Given the description of an element on the screen output the (x, y) to click on. 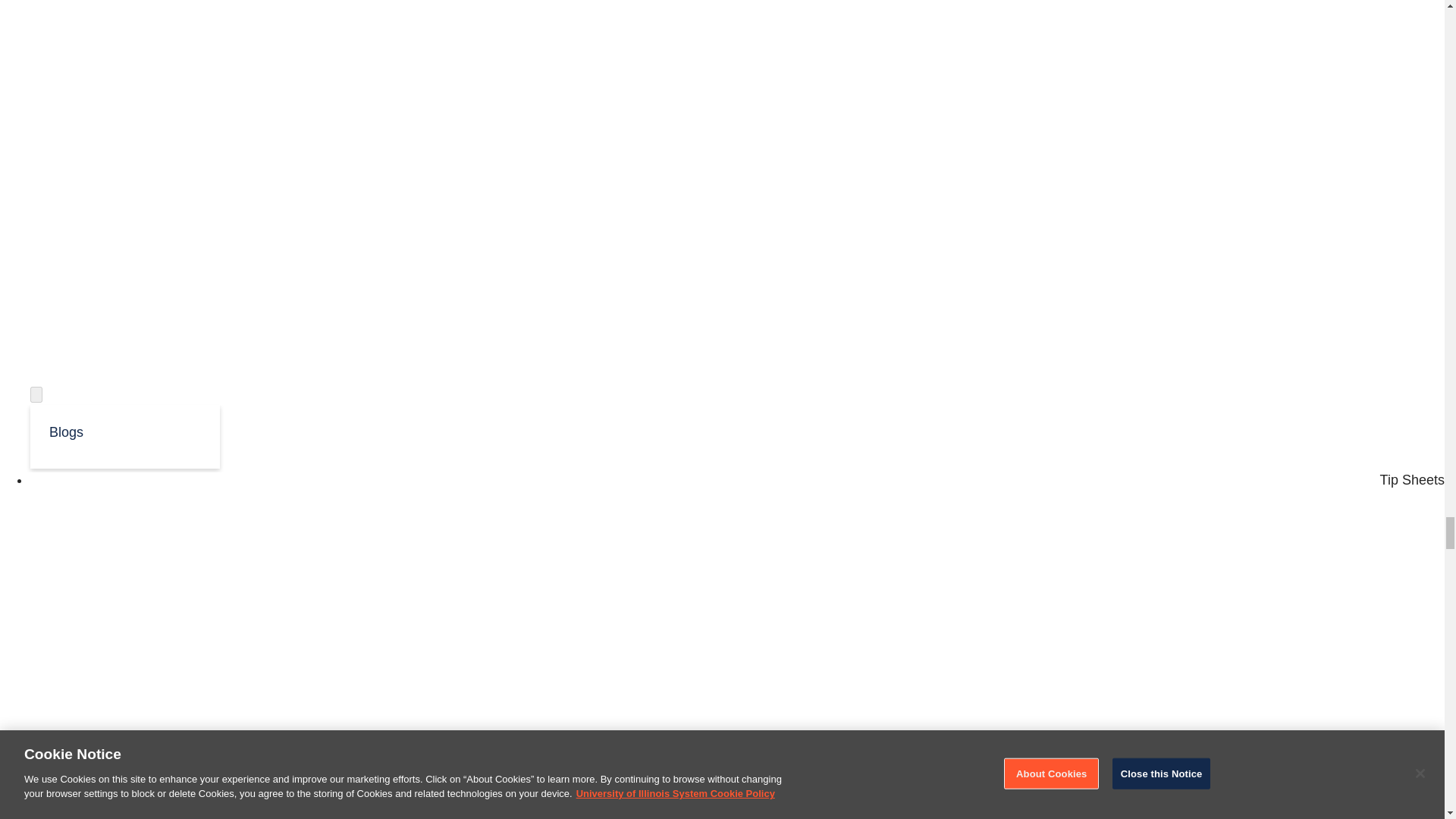
Blogs (125, 430)
